Given the description of an element on the screen output the (x, y) to click on. 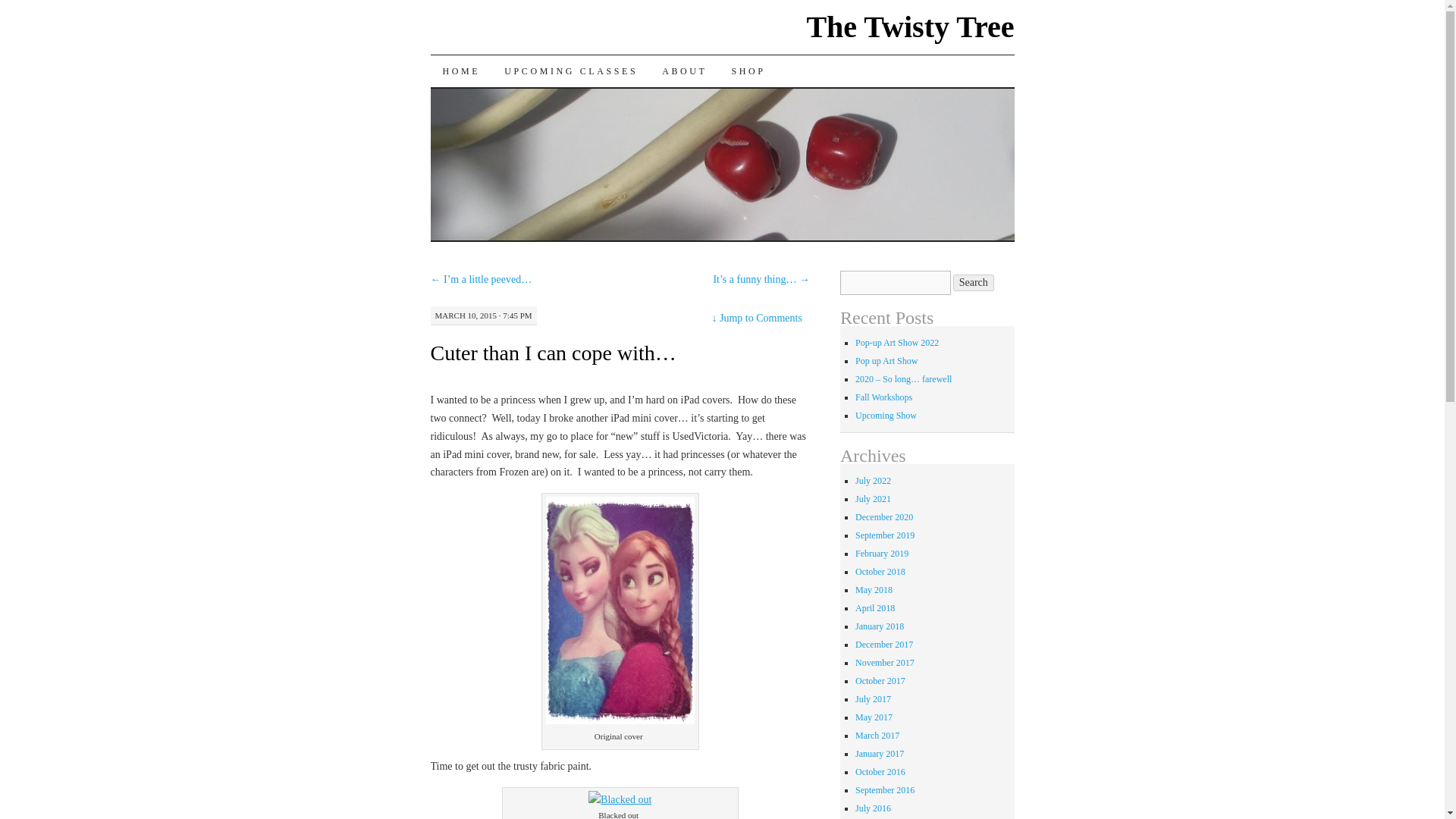
SHOP (748, 70)
December 2020 (884, 516)
September 2019 (885, 534)
Fall Workshops (884, 397)
Search (973, 282)
May 2018 (874, 589)
Search (973, 282)
February 2019 (882, 552)
July 2021 (873, 498)
December 2017 (884, 644)
